Given the description of an element on the screen output the (x, y) to click on. 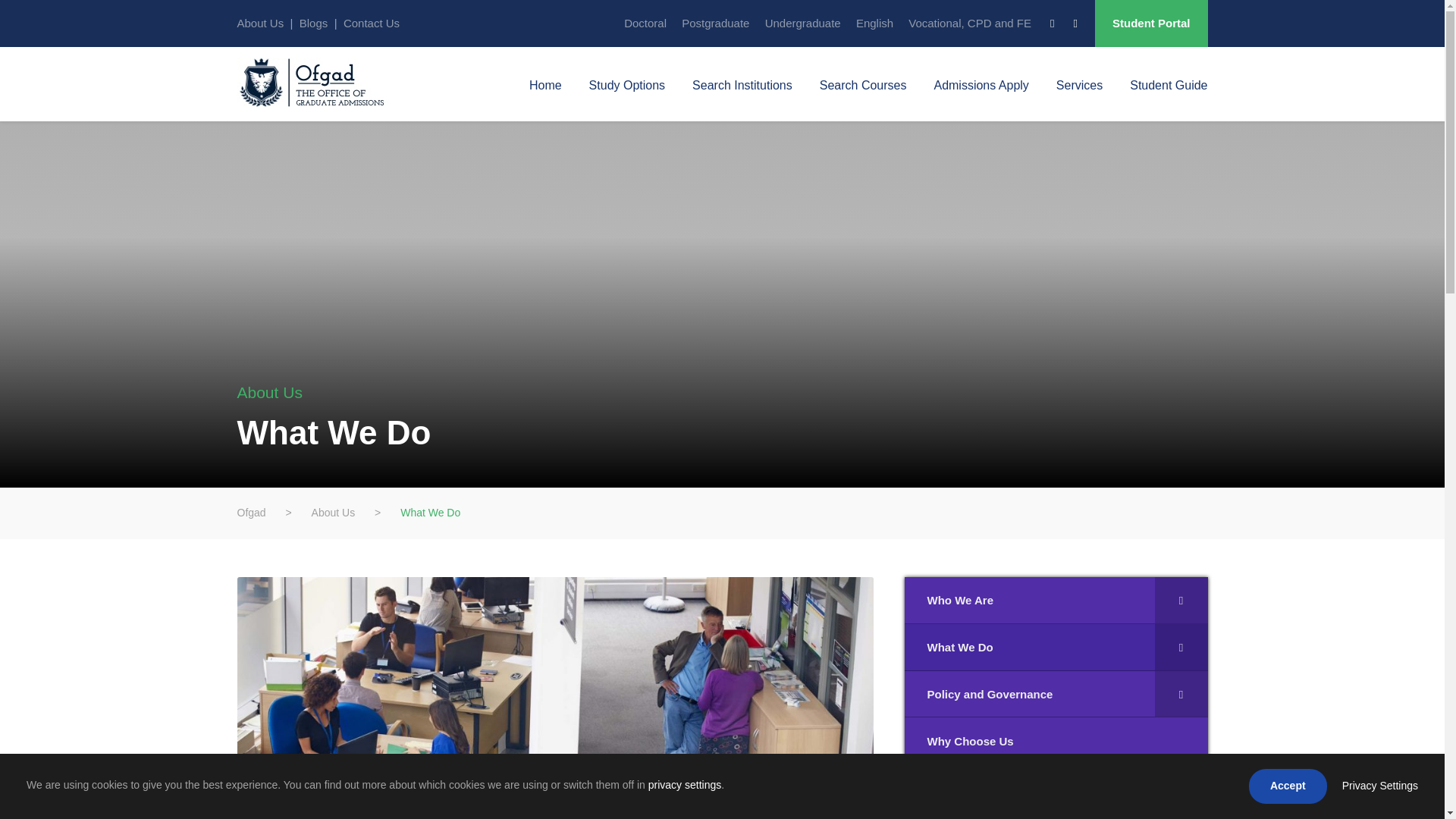
headlogo1 (319, 82)
Go to About Us. (333, 512)
Go to Ofgad. (249, 512)
